Given the description of an element on the screen output the (x, y) to click on. 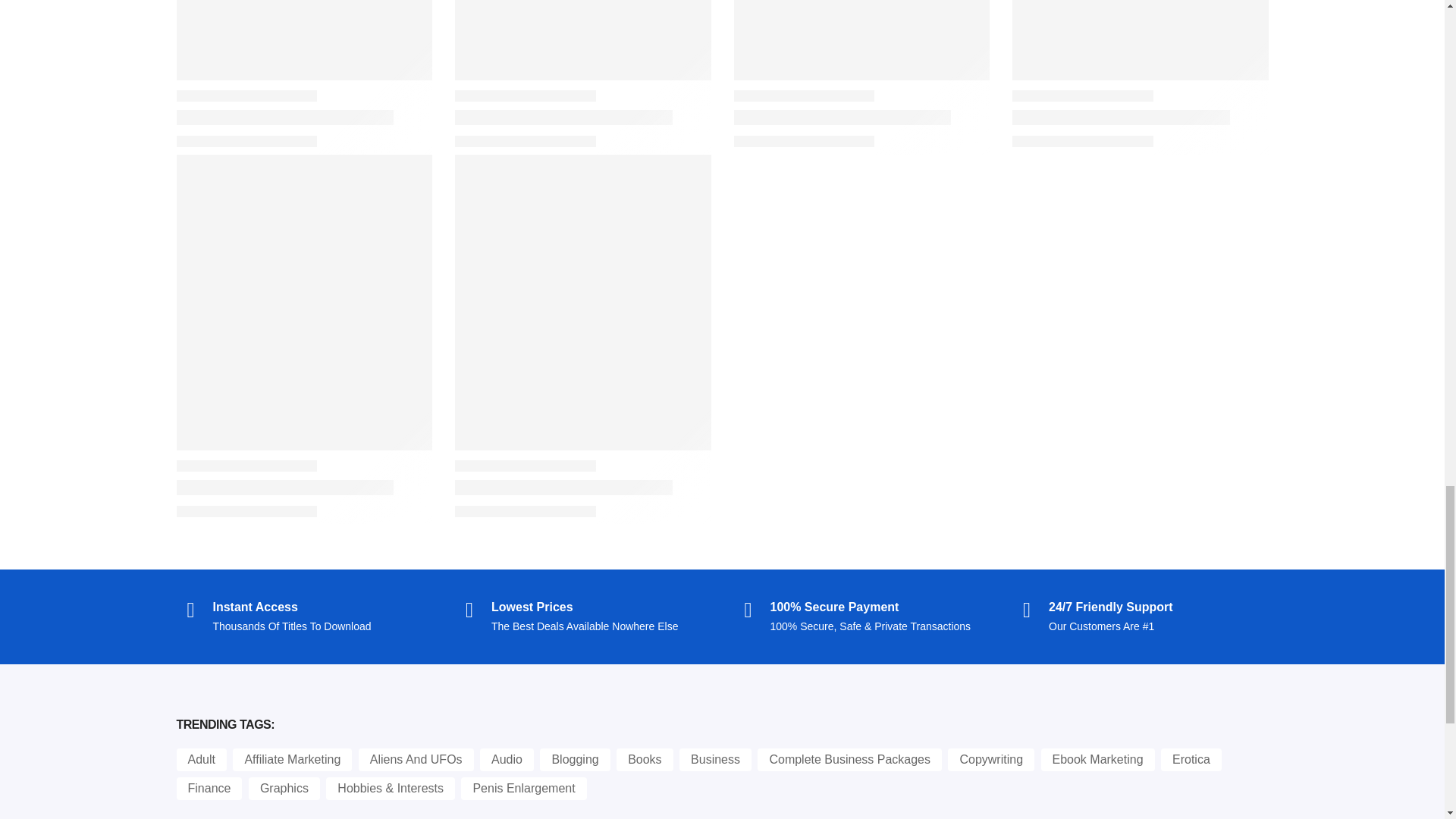
Business (715, 759)
Ebook Marketing (1097, 759)
Complete Business Packages (849, 759)
Adult (200, 759)
Copywriting (990, 759)
Aliens And UFOs (416, 759)
Erotica (1190, 759)
Audio (507, 759)
Finance (208, 788)
Blogging (575, 759)
